Given the description of an element on the screen output the (x, y) to click on. 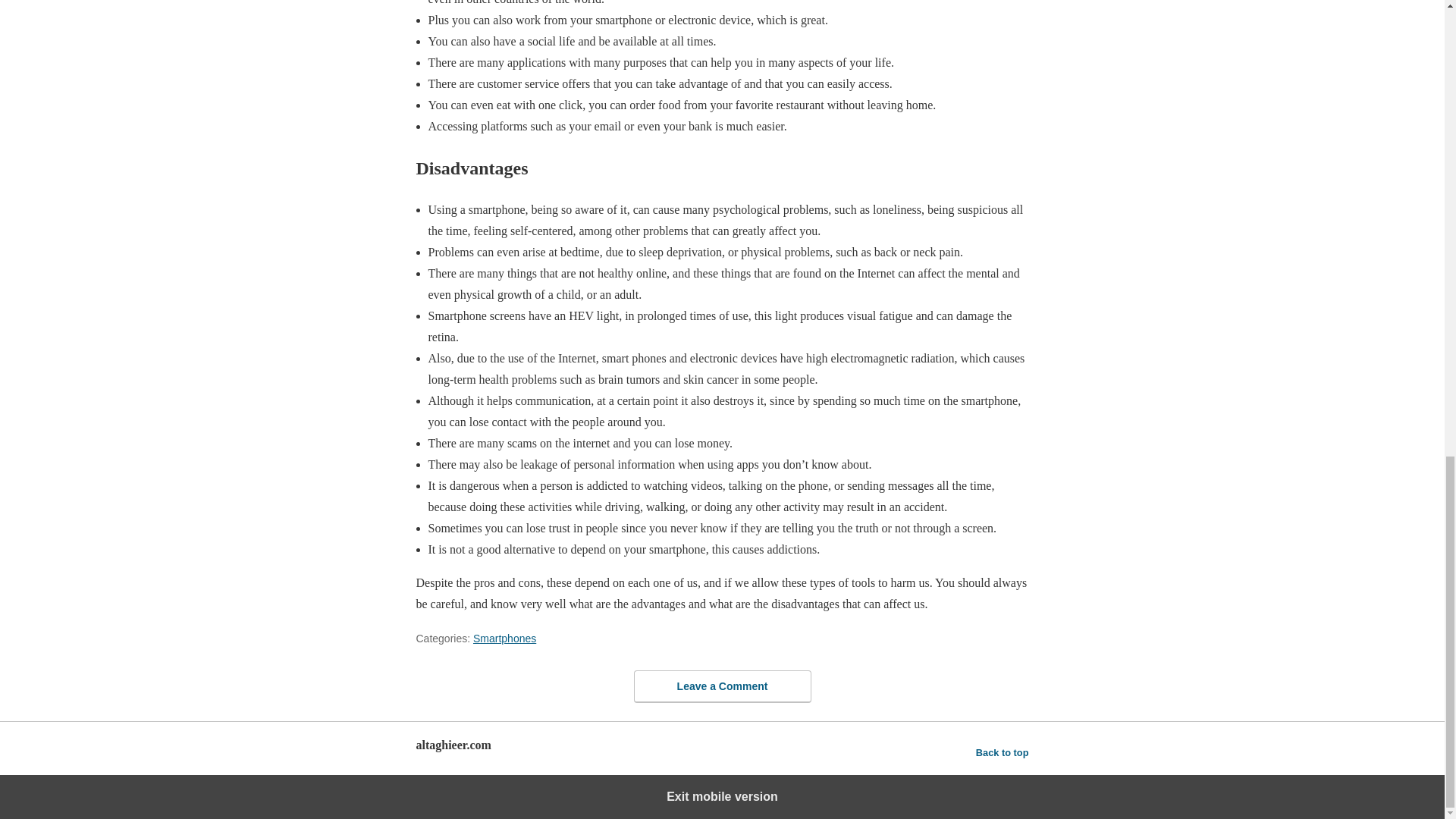
Back to top (1002, 752)
Smartphones (504, 638)
Leave a Comment (721, 686)
